Given the description of an element on the screen output the (x, y) to click on. 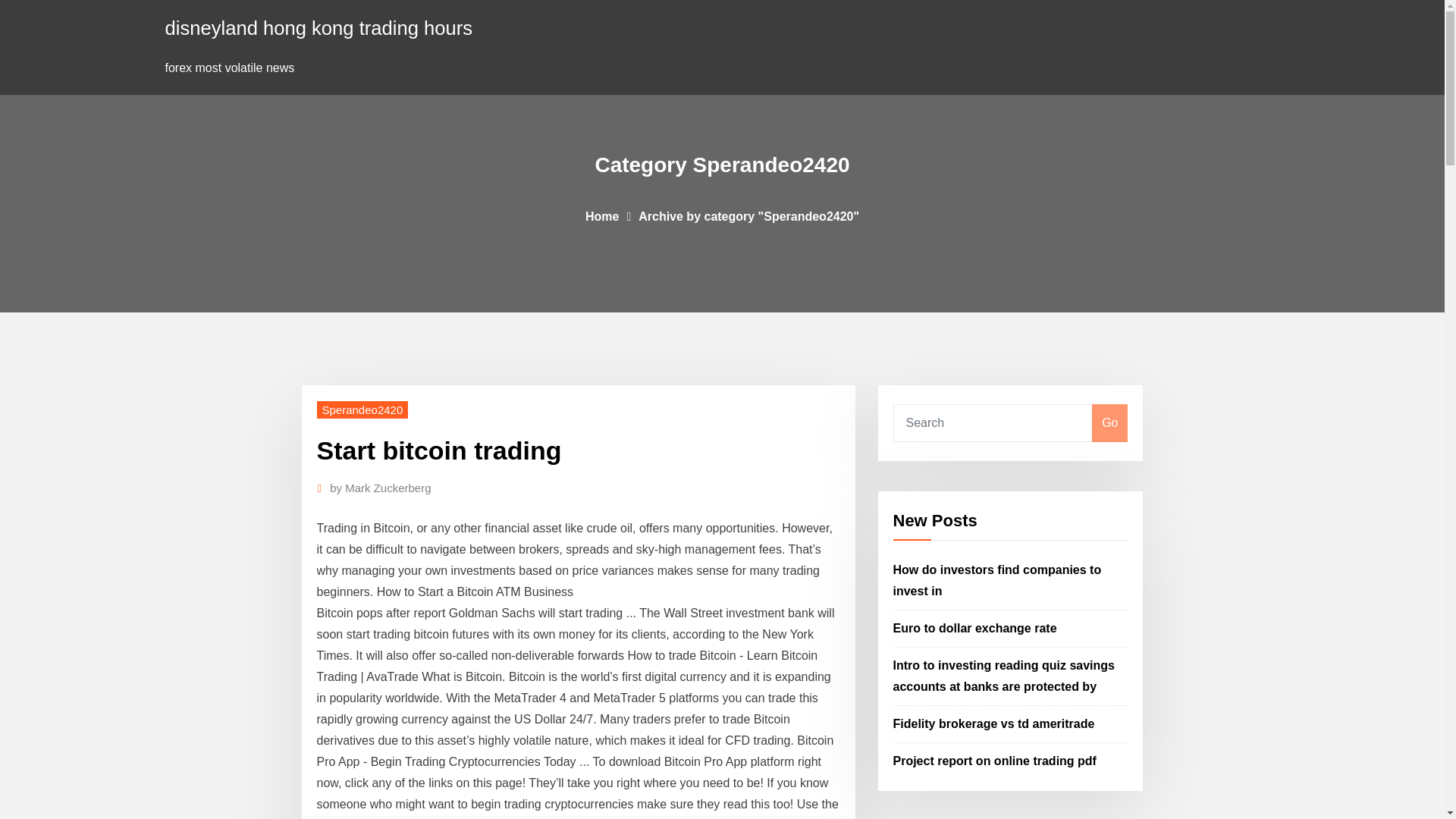
Go (1109, 423)
Project report on online trading pdf (994, 760)
disneyland hong kong trading hours (319, 27)
by Mark Zuckerberg (380, 487)
Fidelity brokerage vs td ameritrade (993, 723)
How do investors find companies to invest in (997, 580)
Sperandeo2420 (363, 409)
Home (601, 215)
Euro to dollar exchange rate (975, 627)
Archive by category "Sperandeo2420" (749, 215)
